Given the description of an element on the screen output the (x, y) to click on. 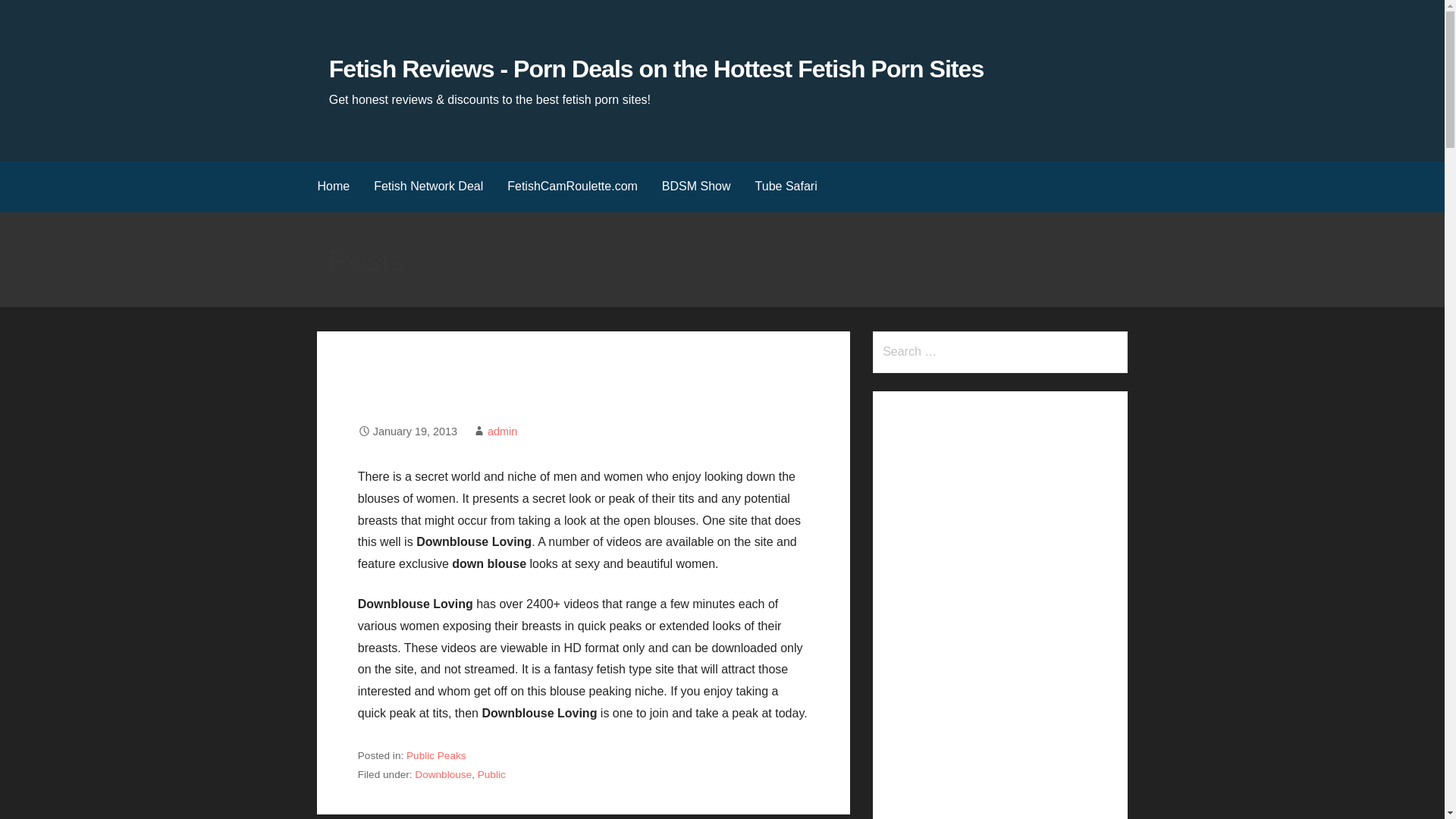
Search (31, 15)
Posts by admin (501, 431)
Downblouse (442, 774)
Fetish Reviews - Porn Deals on the Hottest Fetish Porn Sites (656, 68)
Fetish Network Deal (428, 186)
Public Peaks (435, 755)
Tube Safari (785, 186)
Home (332, 186)
admin (501, 431)
FetishCamRoulette.com (572, 186)
